Given the description of an element on the screen output the (x, y) to click on. 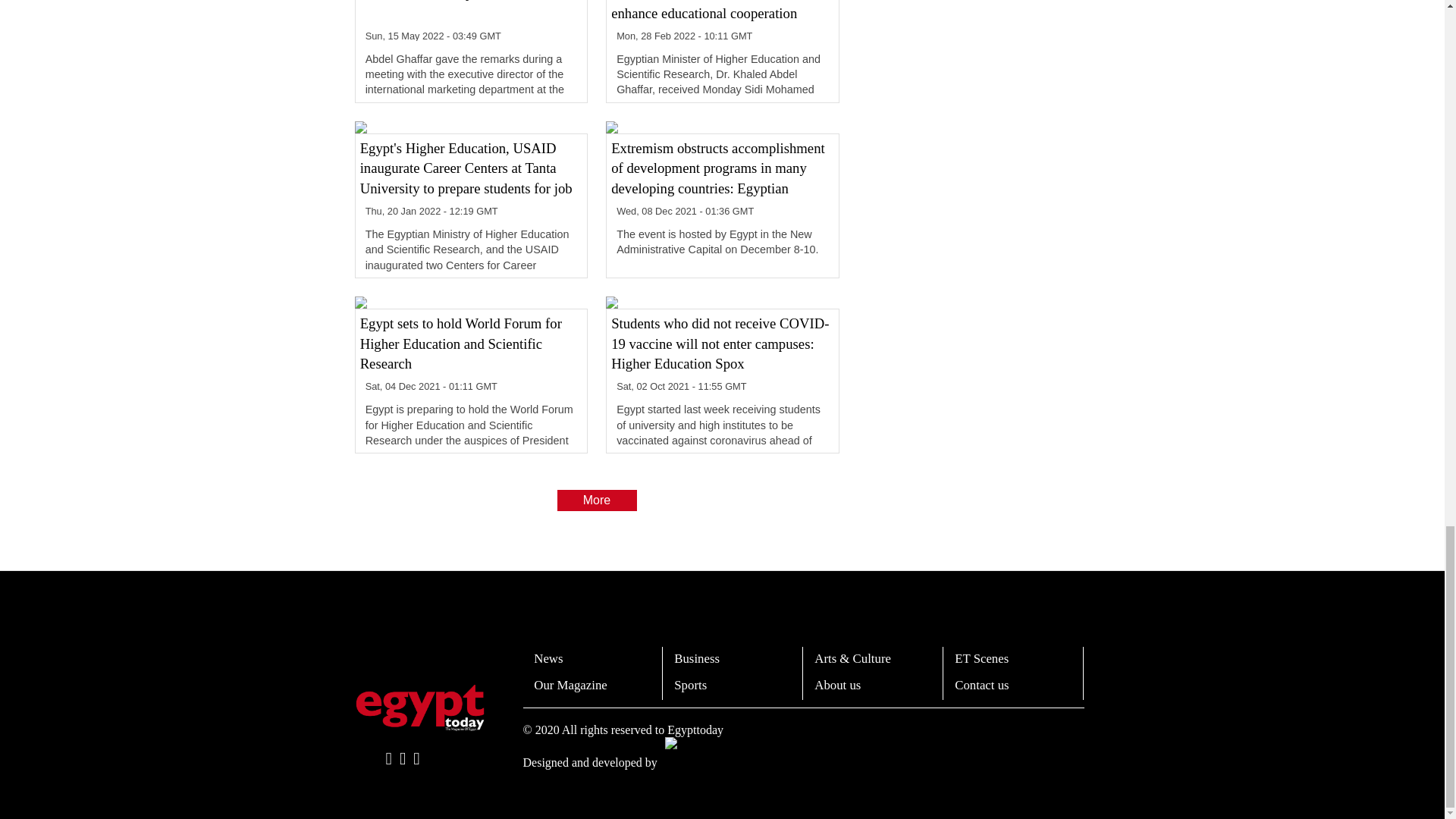
EgyptToday (419, 707)
